Given the description of an element on the screen output the (x, y) to click on. 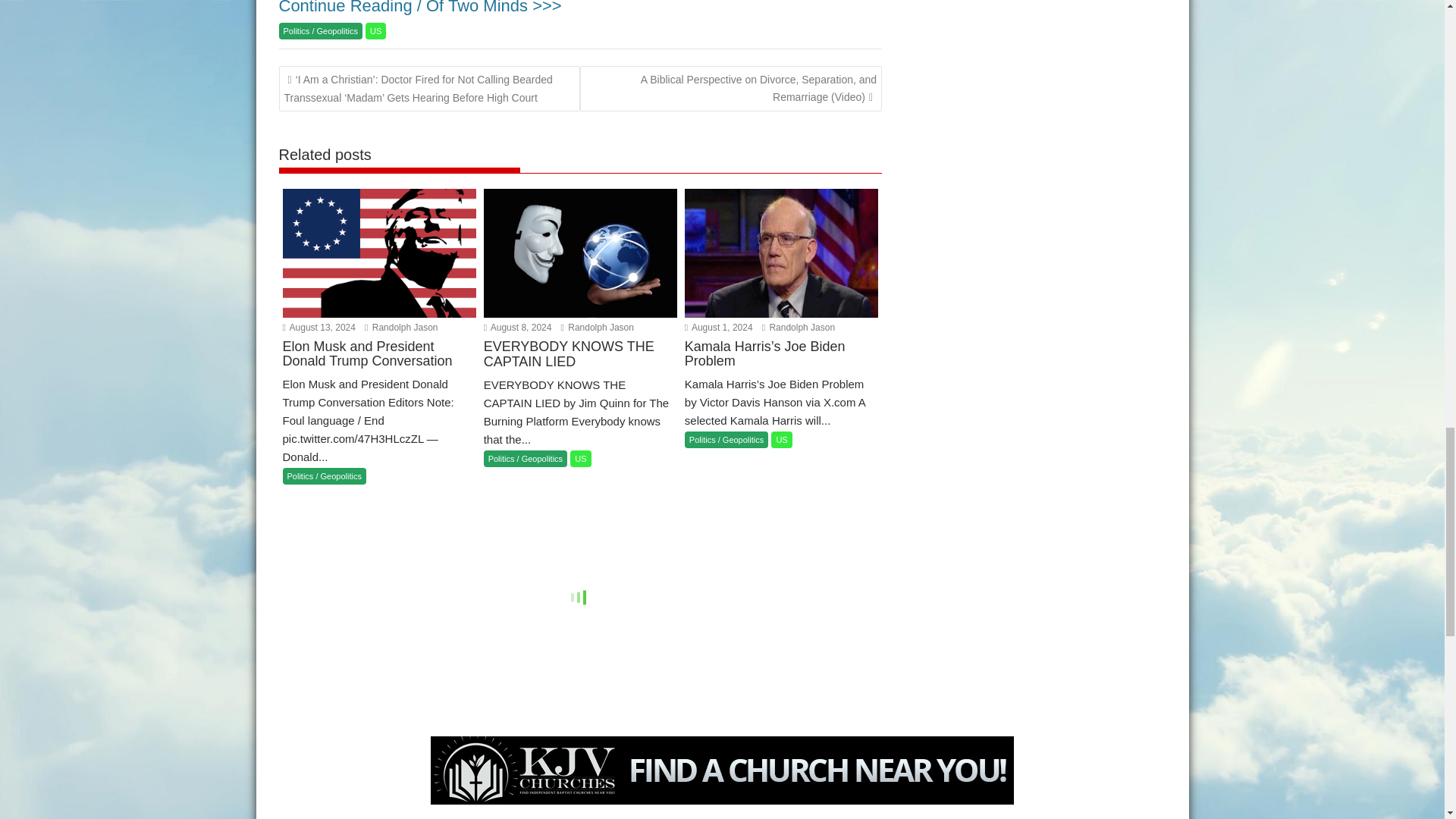
Randolph Jason (401, 327)
Randolph Jason (596, 327)
Randolph Jason (797, 327)
